Given the description of an element on the screen output the (x, y) to click on. 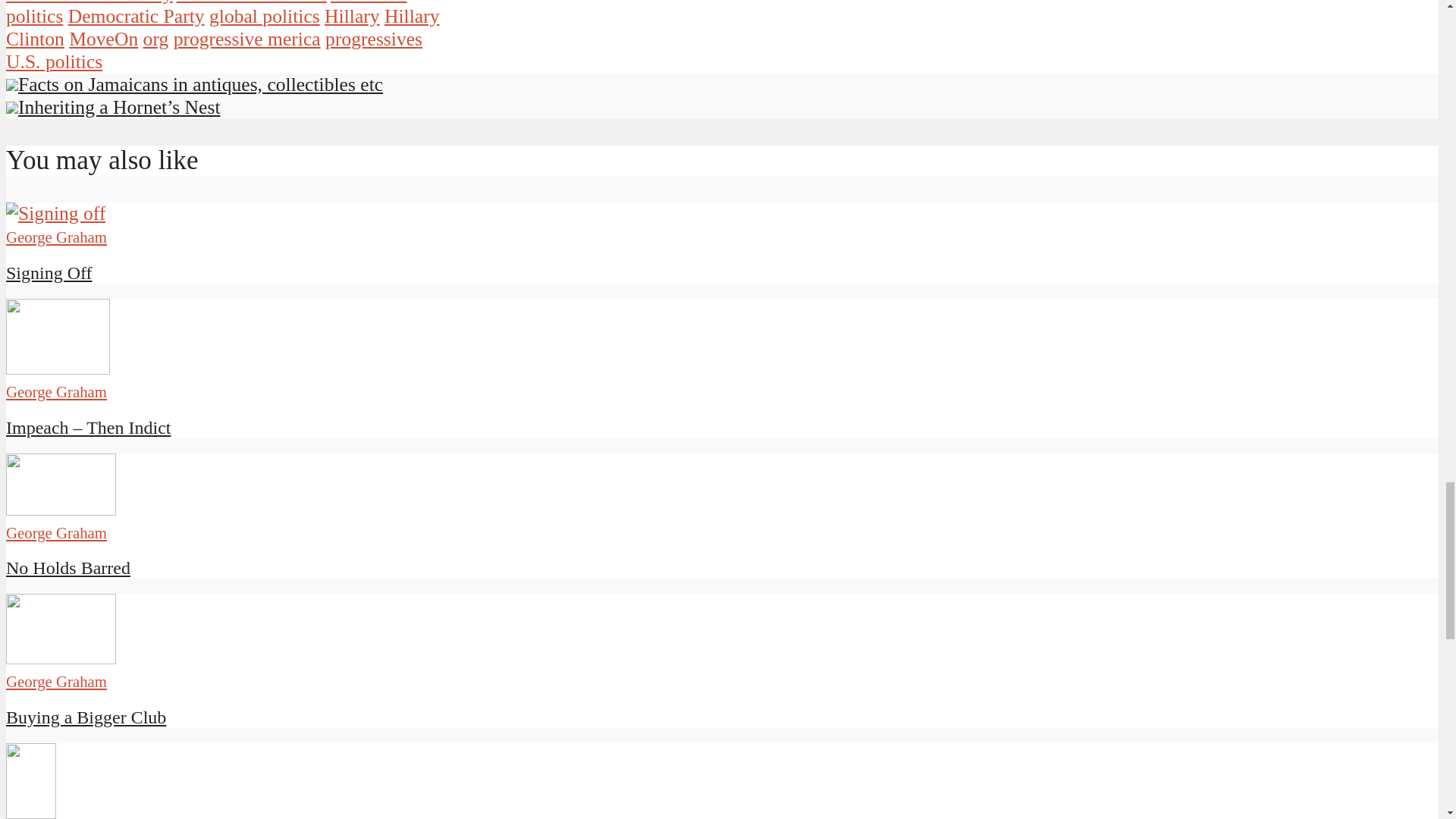
No Holds Barred (60, 508)
American elections (251, 2)
progressive merica (246, 38)
Signing Off (54, 213)
progressives (373, 38)
George Graham (55, 391)
No Holds Barred (68, 567)
U.S. politics (53, 61)
Hillary (352, 15)
MoveOn (103, 38)
